Given the description of an element on the screen output the (x, y) to click on. 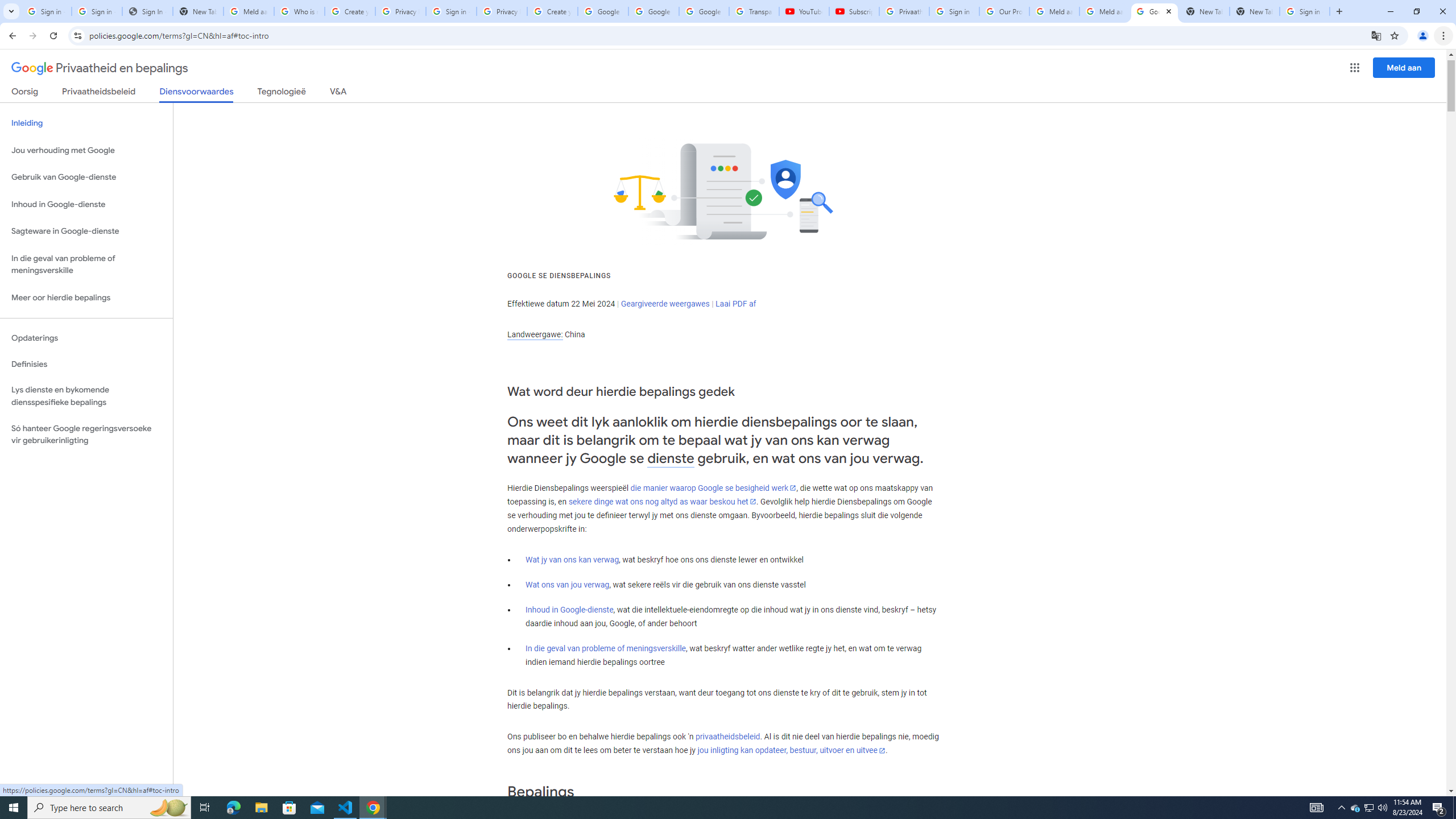
Laai PDF af (735, 303)
Inhoud in Google-dienste (568, 609)
YouTube (804, 11)
Sign in - Google Accounts (46, 11)
Google-programme (1355, 67)
Meer oor hierdie bepalings (86, 298)
Who is my administrator? - Google Account Help (299, 11)
In die geval van probleme of meningsverskille (605, 647)
jou inligting kan opdateer, bestuur, uitvoer en uitvee (791, 750)
Opdaterings (86, 338)
